Given the description of an element on the screen output the (x, y) to click on. 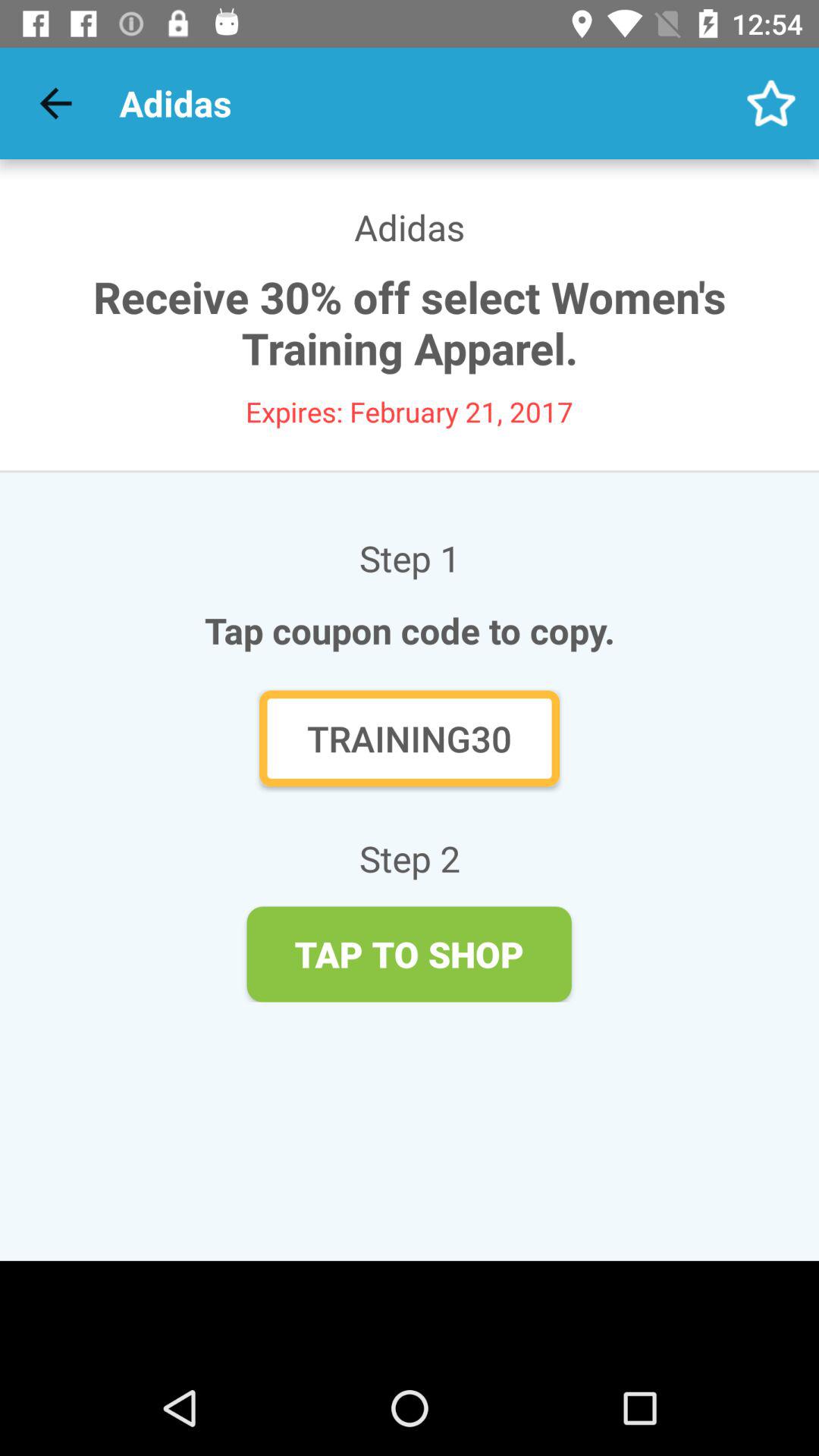
tap item below the tap coupon code icon (409, 738)
